Given the description of an element on the screen output the (x, y) to click on. 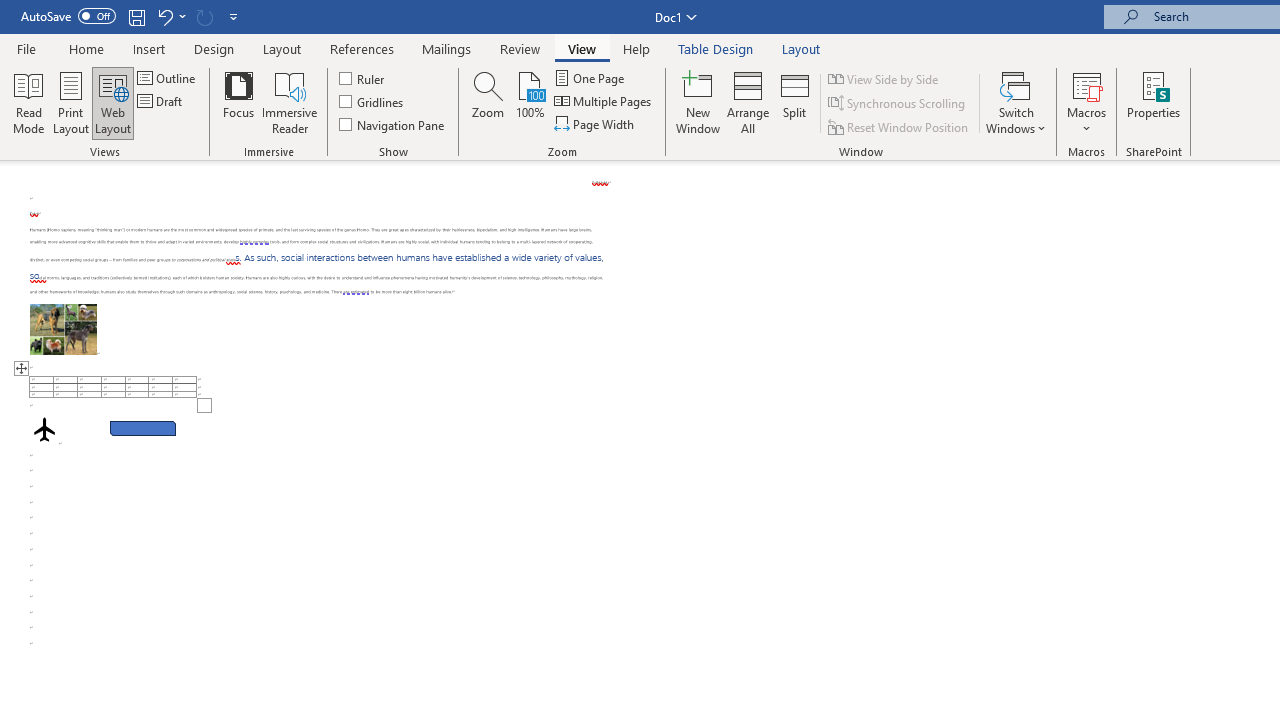
Navigation Pane (392, 124)
Properties (1153, 102)
Outline (168, 78)
New Window (698, 102)
